Given the description of an element on the screen output the (x, y) to click on. 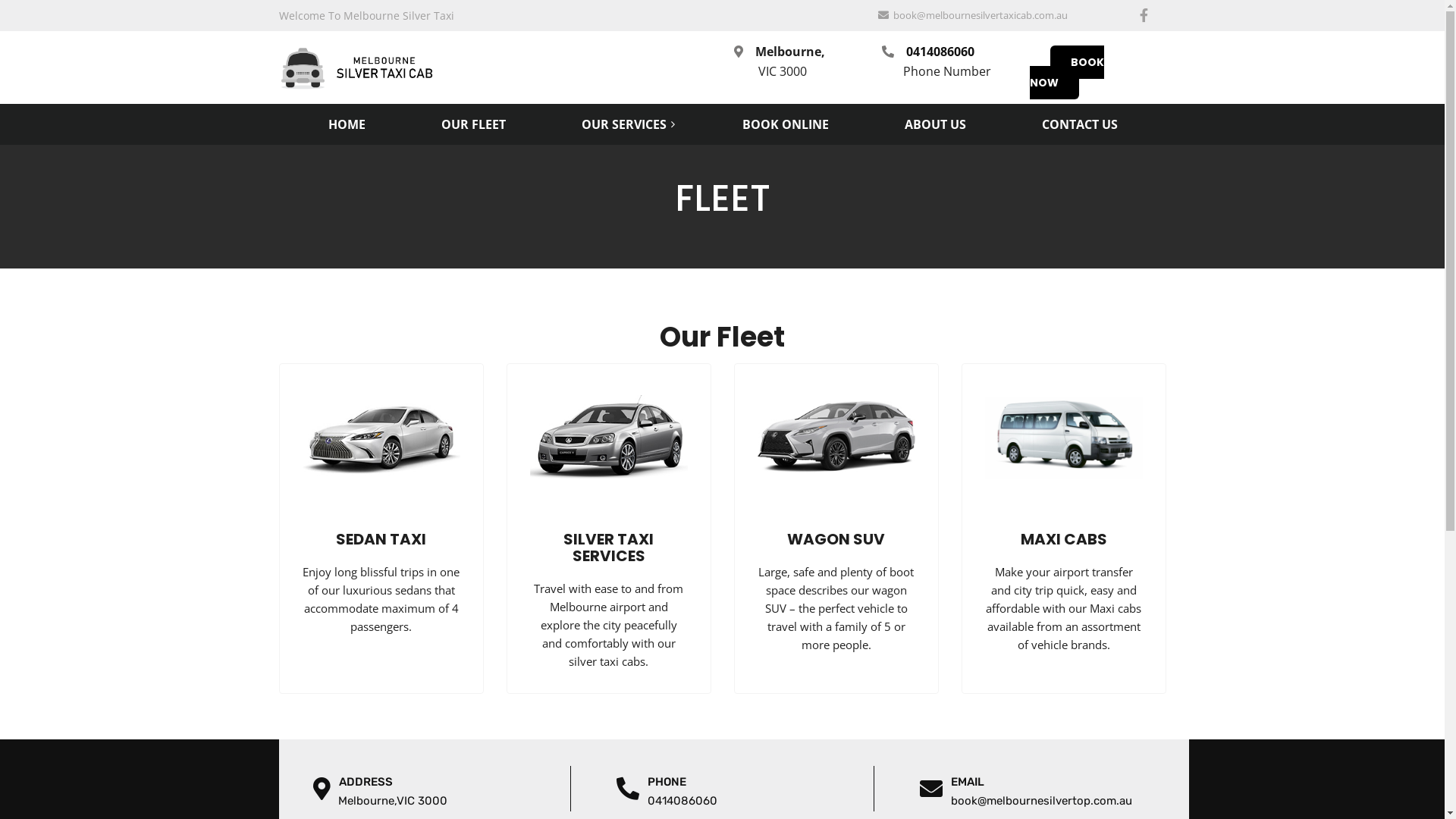
CONTACT US Element type: text (1078, 121)
0414086060 Element type: text (939, 51)
         0414086060 Element type: text (668, 800)
BOOK NOW Element type: text (1066, 72)
book@melbournesilvertaxicab.com.au Element type: text (980, 14)
OUR SERVICES Element type: text (623, 121)
HOME Element type: text (346, 121)
ABOUT US Element type: text (935, 121)
OUR FLEET Element type: text (472, 121)
         book@melbournesilvertop.com.au Element type: text (1027, 800)
BOOK ONLINE Element type: text (785, 121)
